Given the description of an element on the screen output the (x, y) to click on. 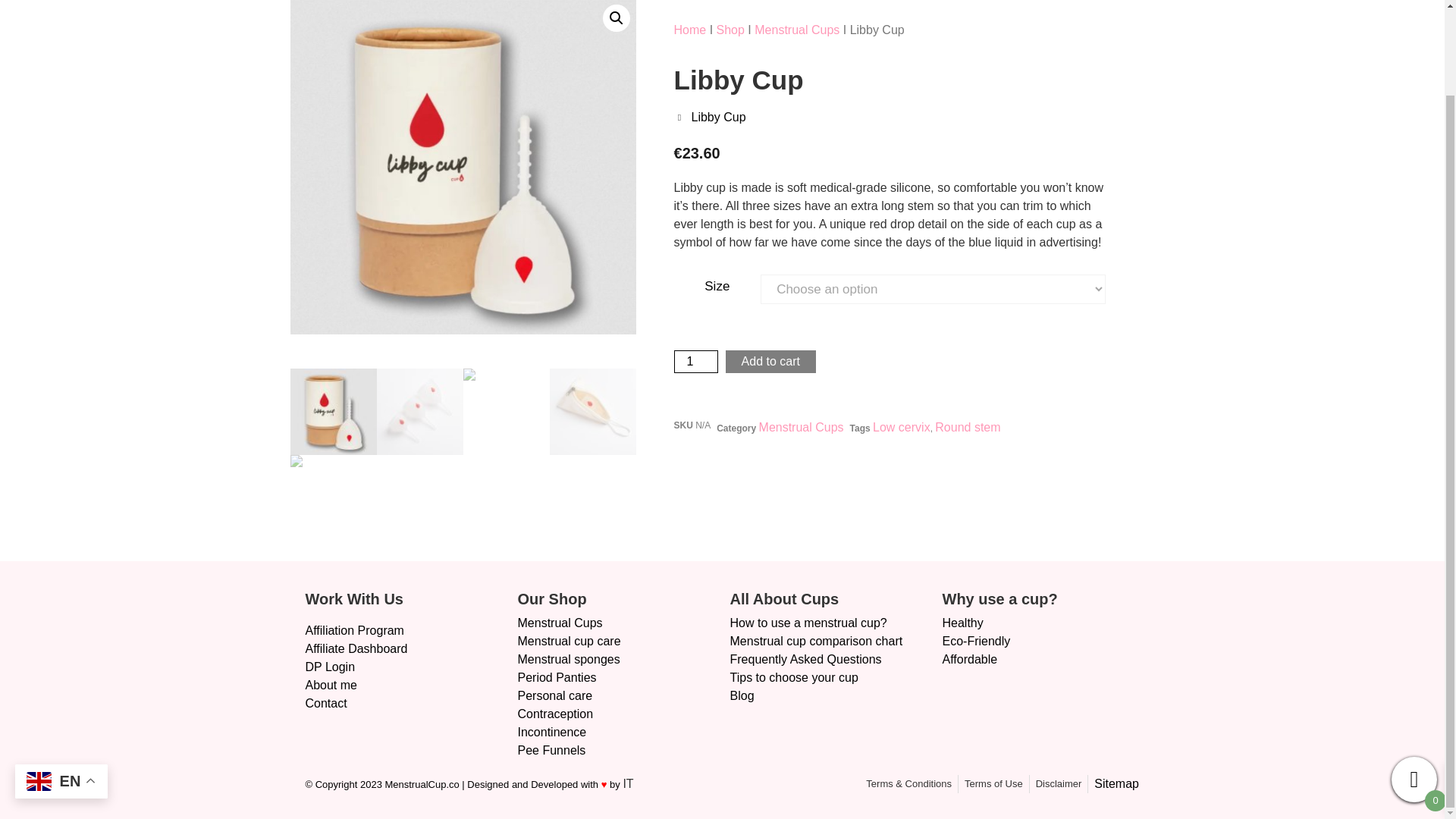
Libby cup menstrual cup (461, 167)
1 (694, 361)
